Given the description of an element on the screen output the (x, y) to click on. 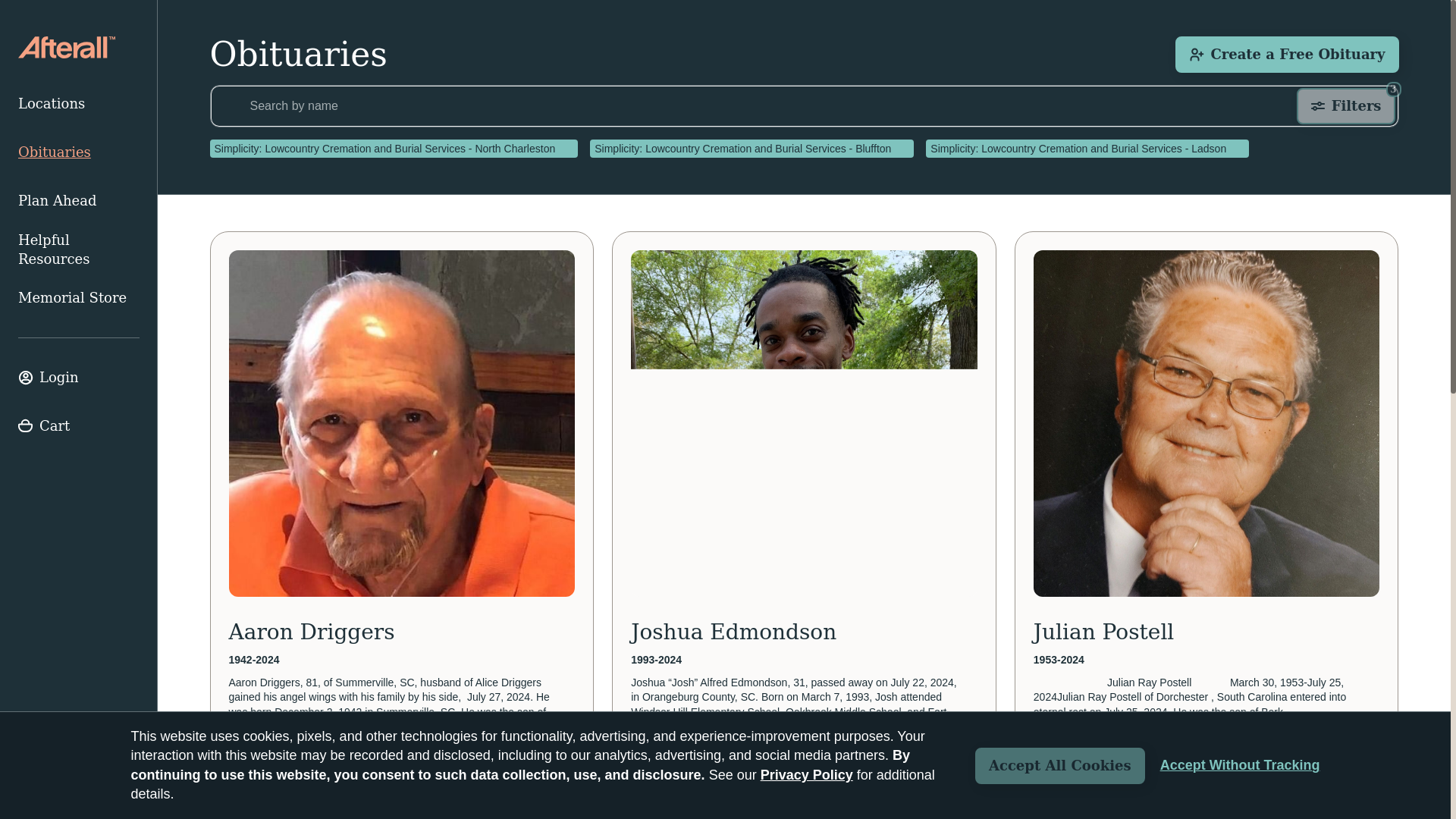
Home page (66, 47)
View your cart (78, 426)
Obituaries (78, 151)
Privacy Policy (806, 774)
Create a Free Obituary (1285, 54)
Cart (78, 426)
Plan Ahead (78, 200)
Locations (78, 103)
Helpful Resources (78, 249)
Memorial Store (78, 297)
Accept Without Tracking (1240, 765)
